Given the description of an element on the screen output the (x, y) to click on. 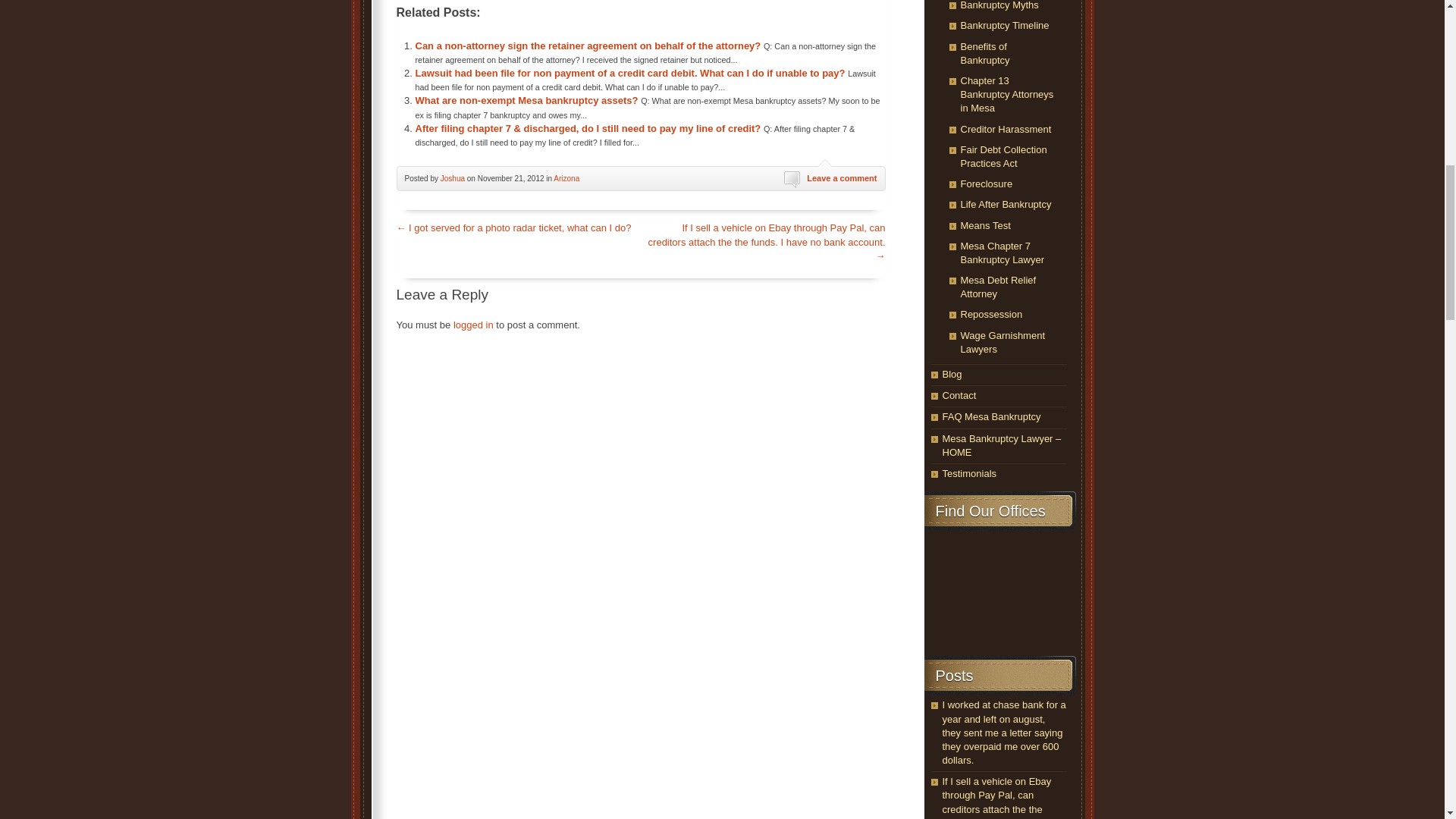
Posts by Joshua (452, 178)
Arizona (566, 178)
Joshua (452, 178)
Leave a comment (841, 177)
What are non-exempt Mesa bankruptcy assets? (526, 100)
logged in (472, 324)
